Given the description of an element on the screen output the (x, y) to click on. 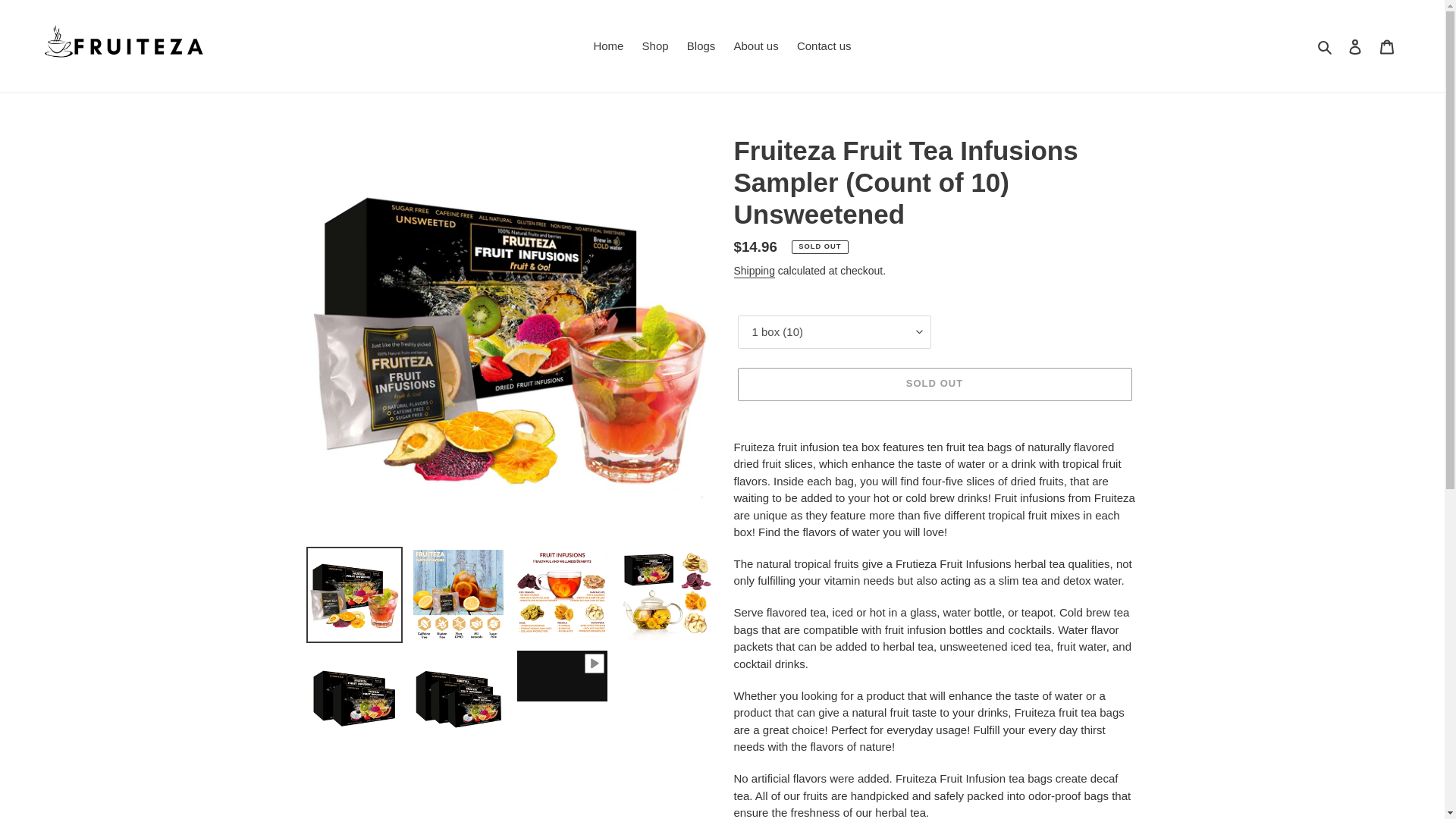
Blogs (701, 46)
Home (607, 46)
Log in (1355, 46)
Cart (1387, 46)
SOLD OUT (933, 384)
About us (756, 46)
Shipping (753, 271)
Search (1326, 46)
Shop (655, 46)
Contact us (824, 46)
